Given the description of an element on the screen output the (x, y) to click on. 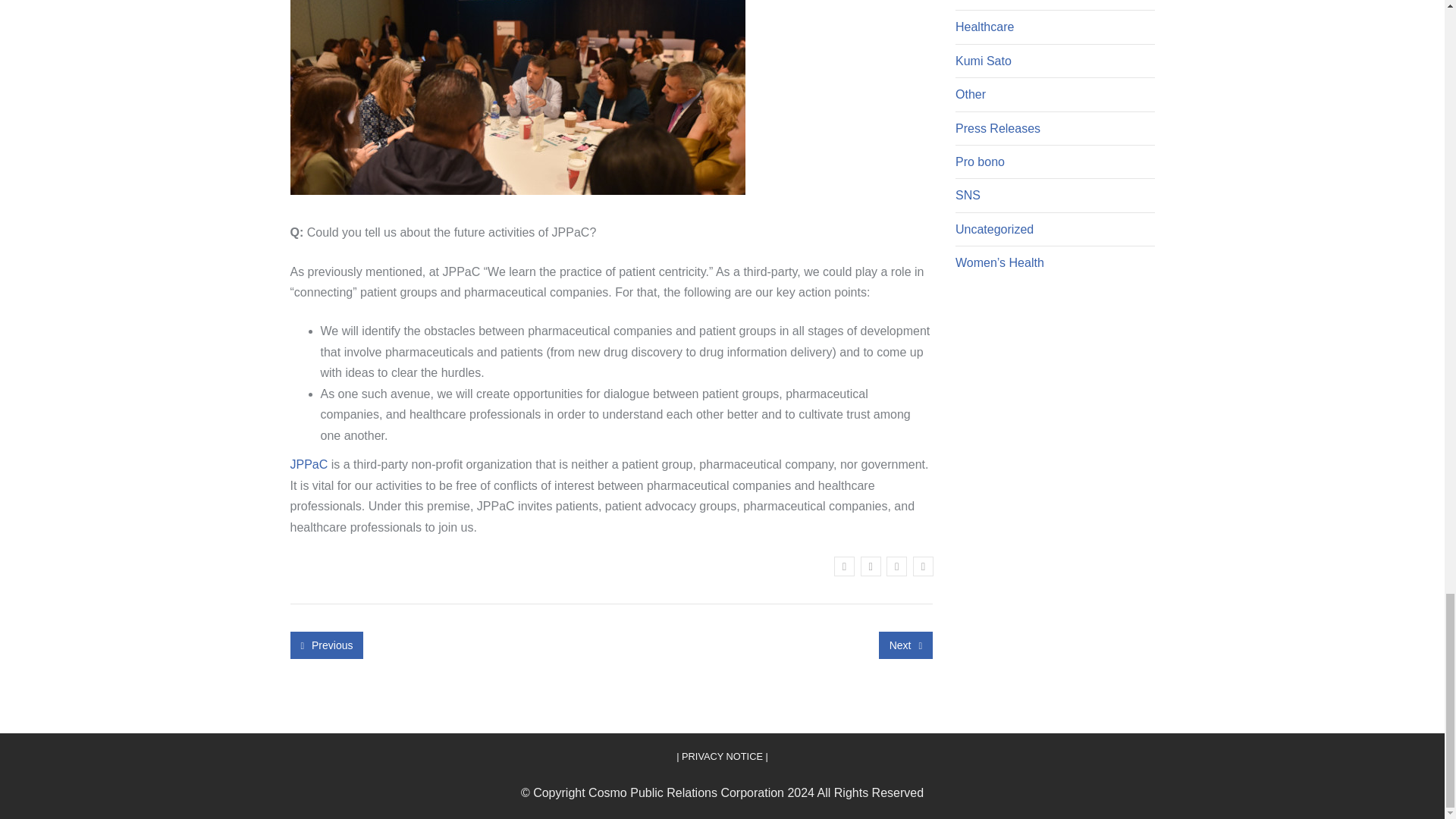
JPPaC (308, 463)
Next (906, 645)
Previous (325, 645)
